Given the description of an element on the screen output the (x, y) to click on. 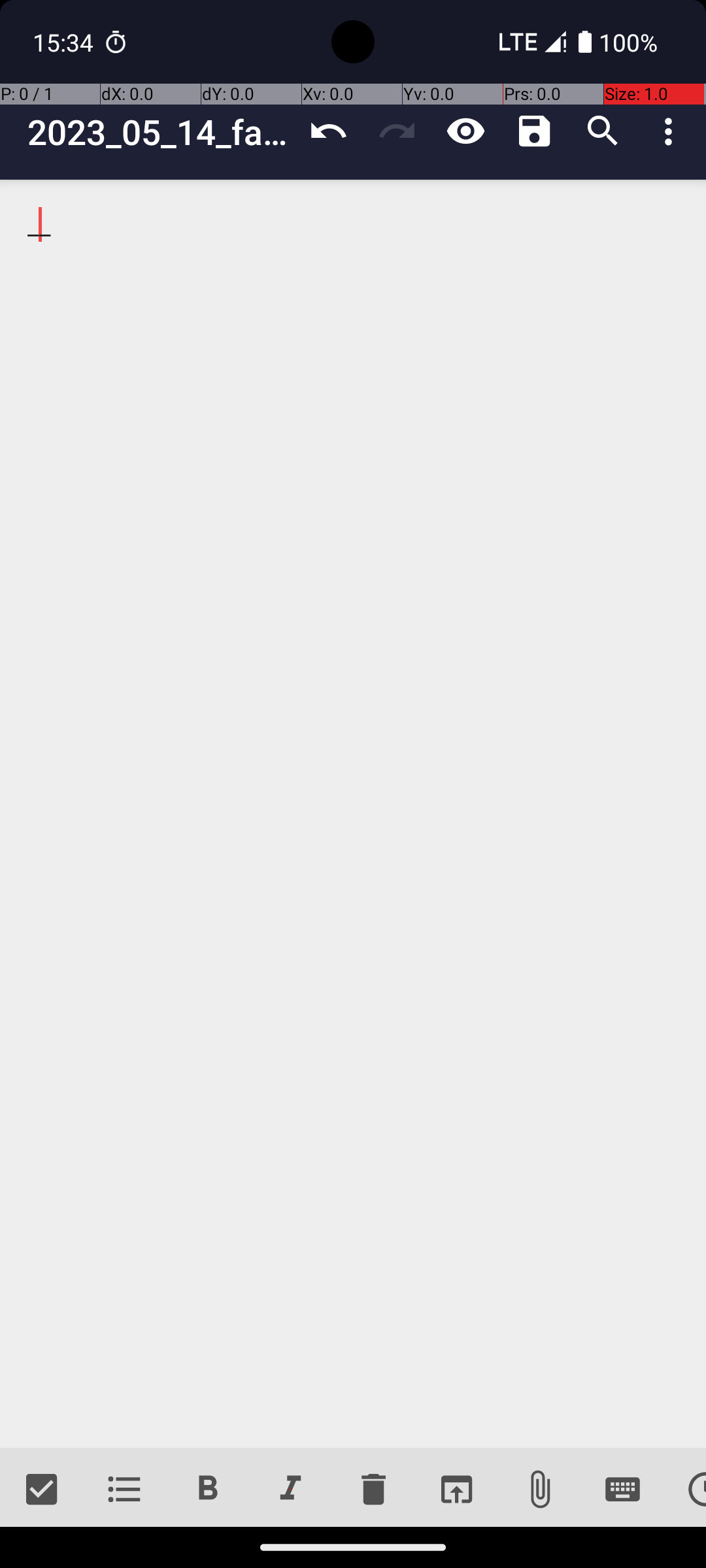
2023_05_14_favorite_book_quotes Element type: android.widget.TextView (160, 131)
__ Element type: android.widget.EditText (353, 813)
